Given the description of an element on the screen output the (x, y) to click on. 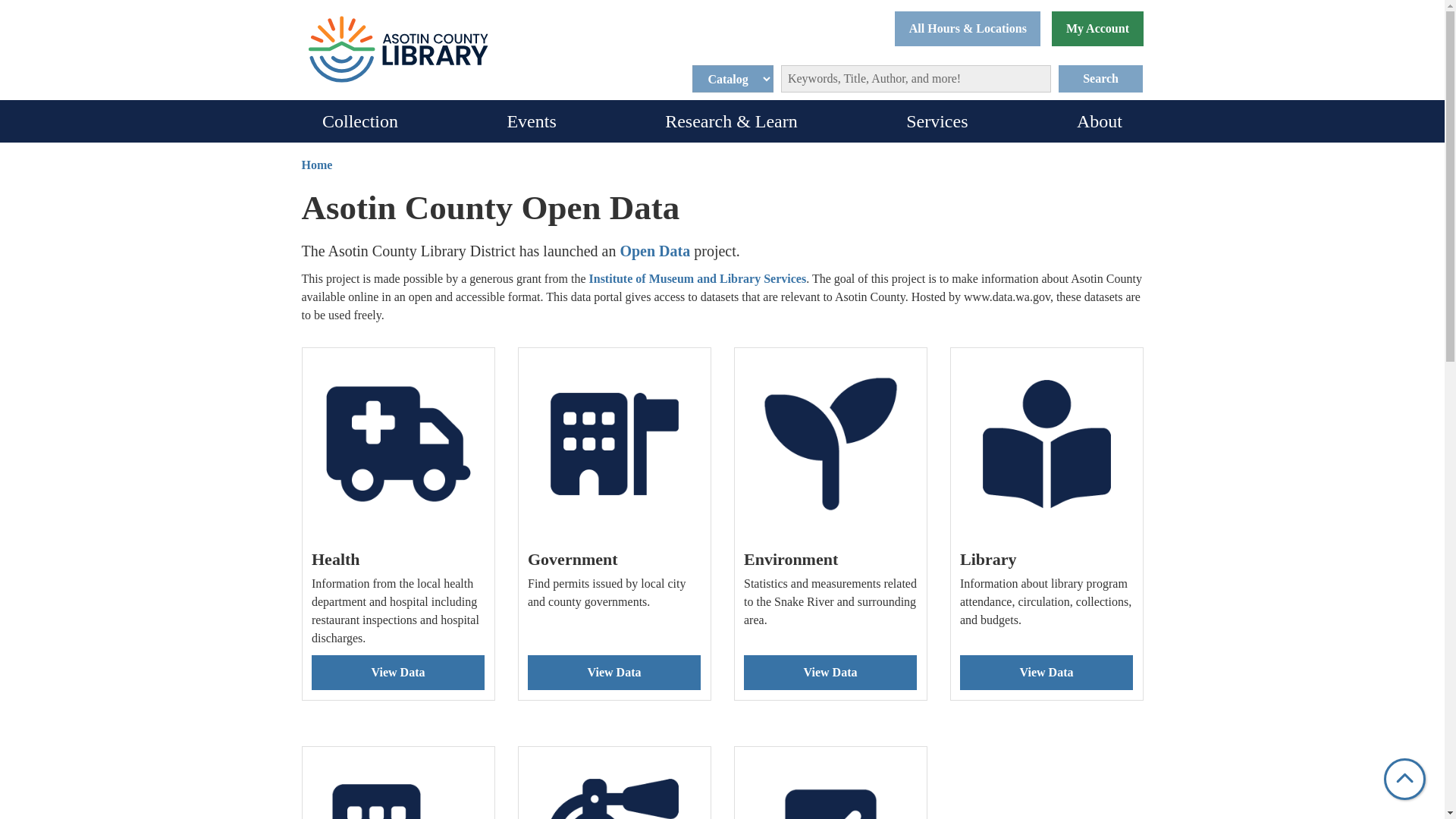
My Account (1096, 28)
Search (1100, 78)
Back To Top (1404, 779)
Home (398, 48)
